Given the description of an element on the screen output the (x, y) to click on. 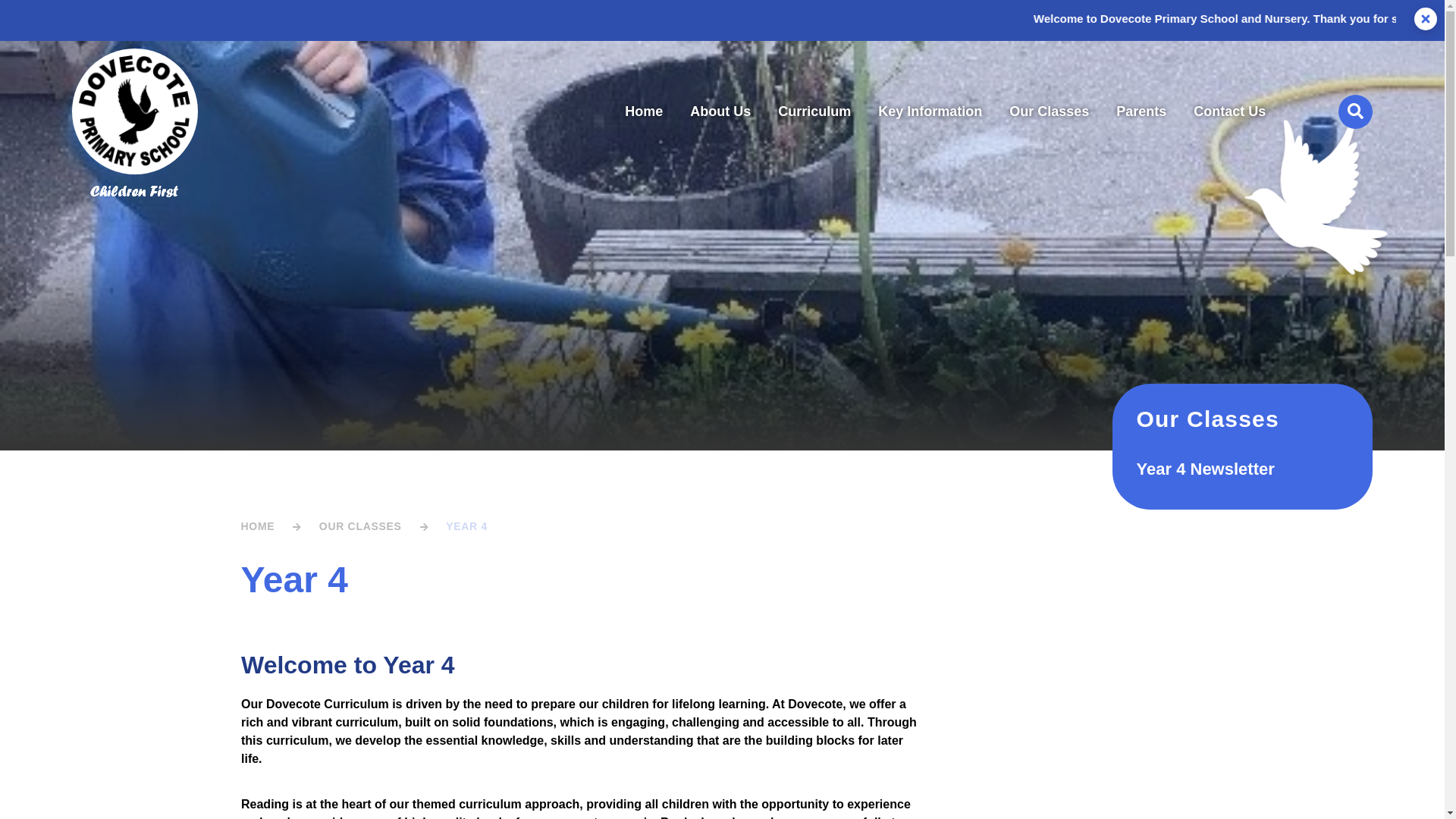
Home (644, 112)
Curriculum (814, 112)
About Us (720, 112)
Key Information (929, 112)
